Given the description of an element on the screen output the (x, y) to click on. 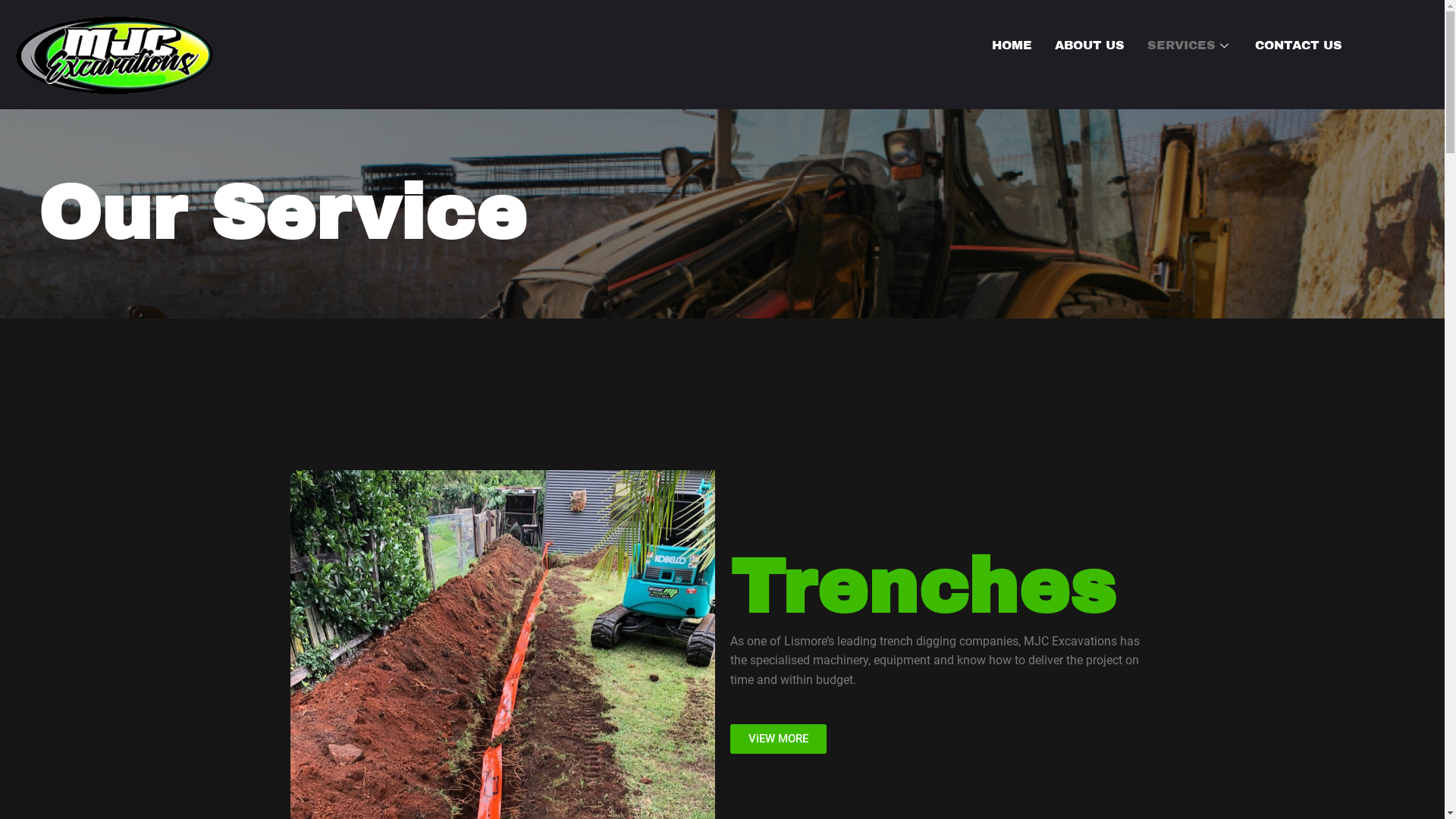
HOME Element type: text (1011, 45)
ViEW MORE Element type: text (777, 738)
SERVICES Element type: text (1189, 45)
ABOUT US Element type: text (1089, 45)
CONTACT US Element type: text (1298, 45)
